Given the description of an element on the screen output the (x, y) to click on. 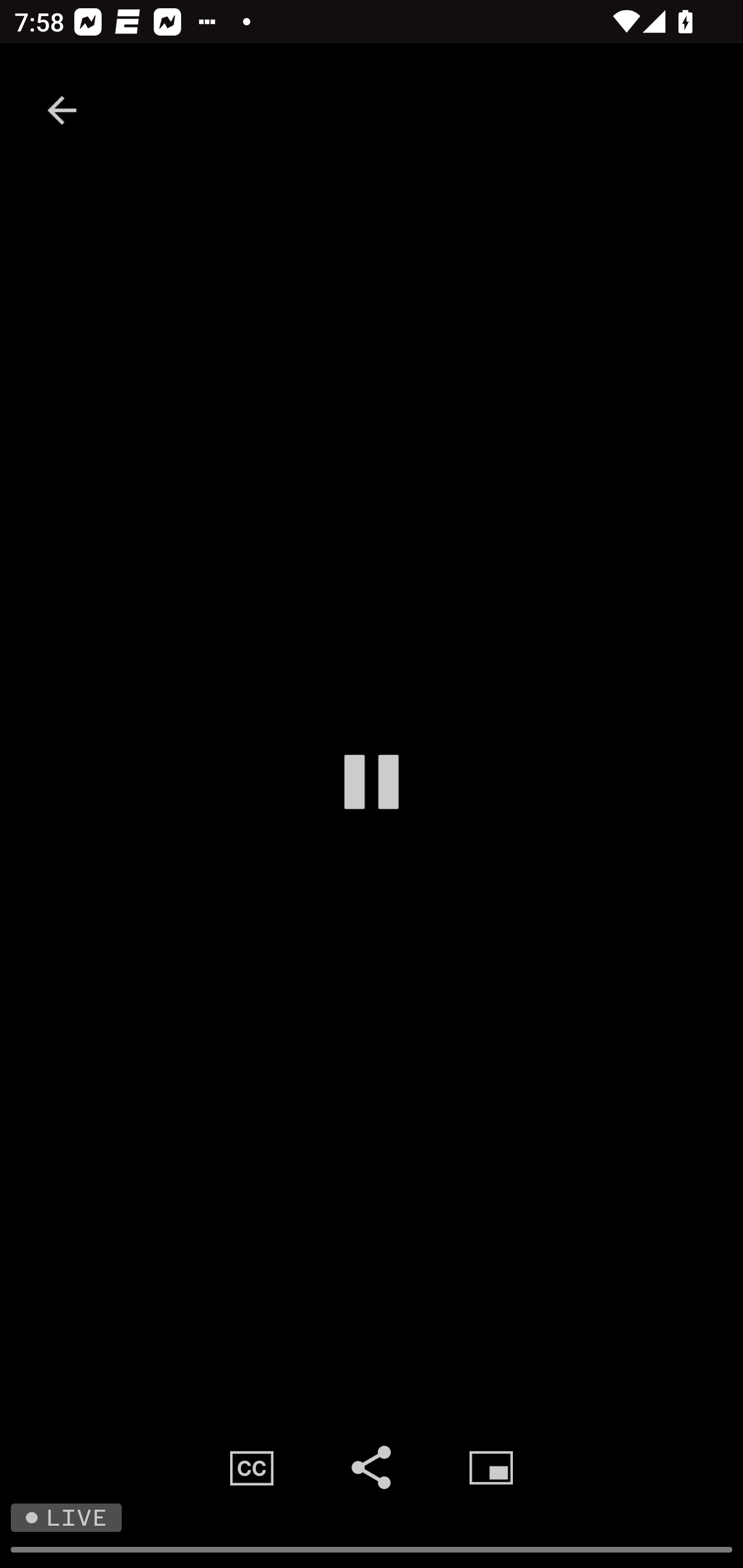
Back (61, 110)
Pause (371, 781)
Closed Captions, ON (251, 1467)
Share Media (371, 1467)
Picture in Picture Media (490, 1467)
